Given the description of an element on the screen output the (x, y) to click on. 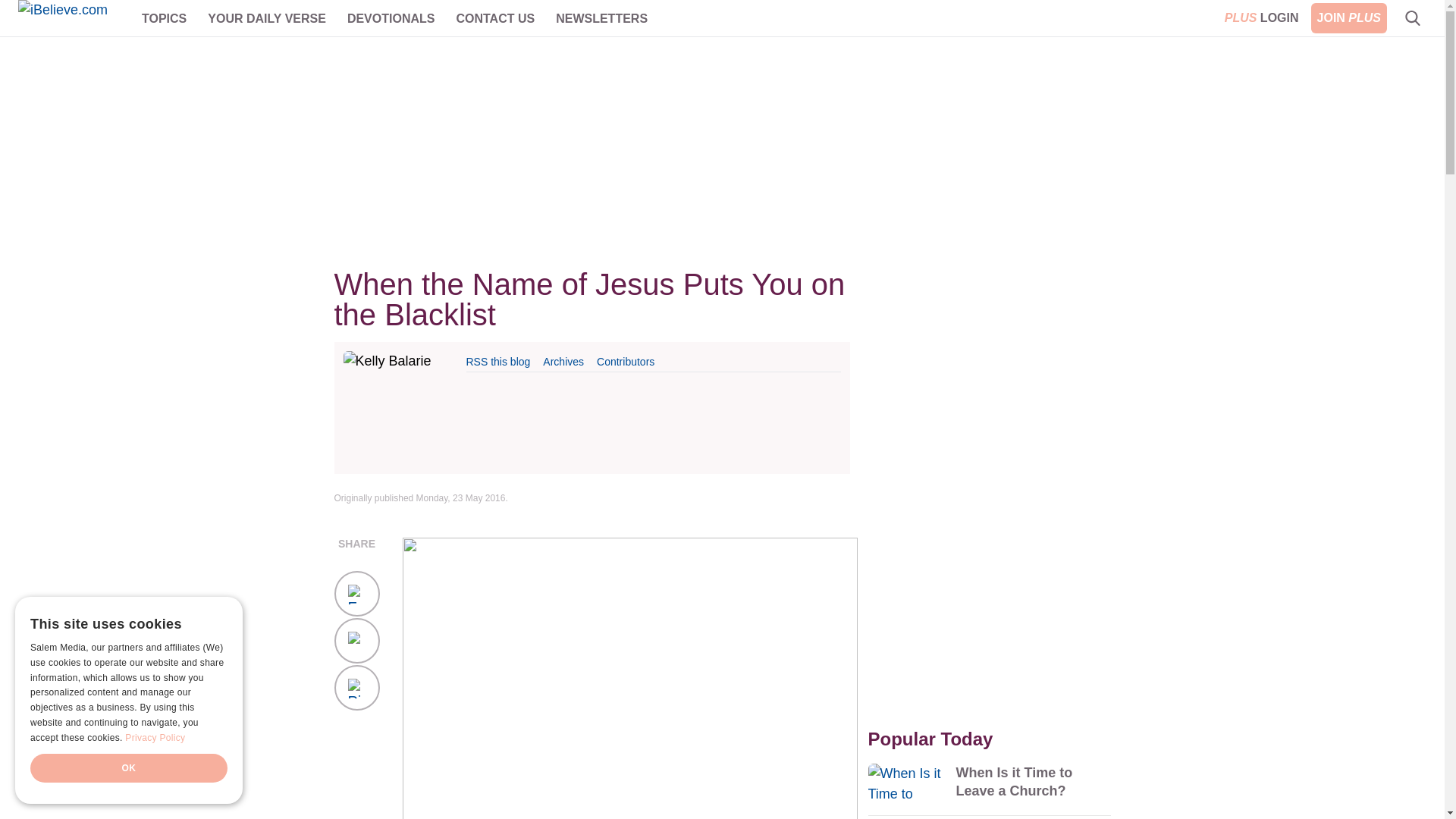
iBelieve.com (73, 18)
PLUS LOGIN (1261, 18)
DEVOTIONALS (390, 18)
TOPICS (163, 18)
JOIN PLUS (1349, 18)
YOUR DAILY VERSE (266, 18)
NEWSLETTERS (601, 18)
CONTACT US (494, 18)
